Given the description of an element on the screen output the (x, y) to click on. 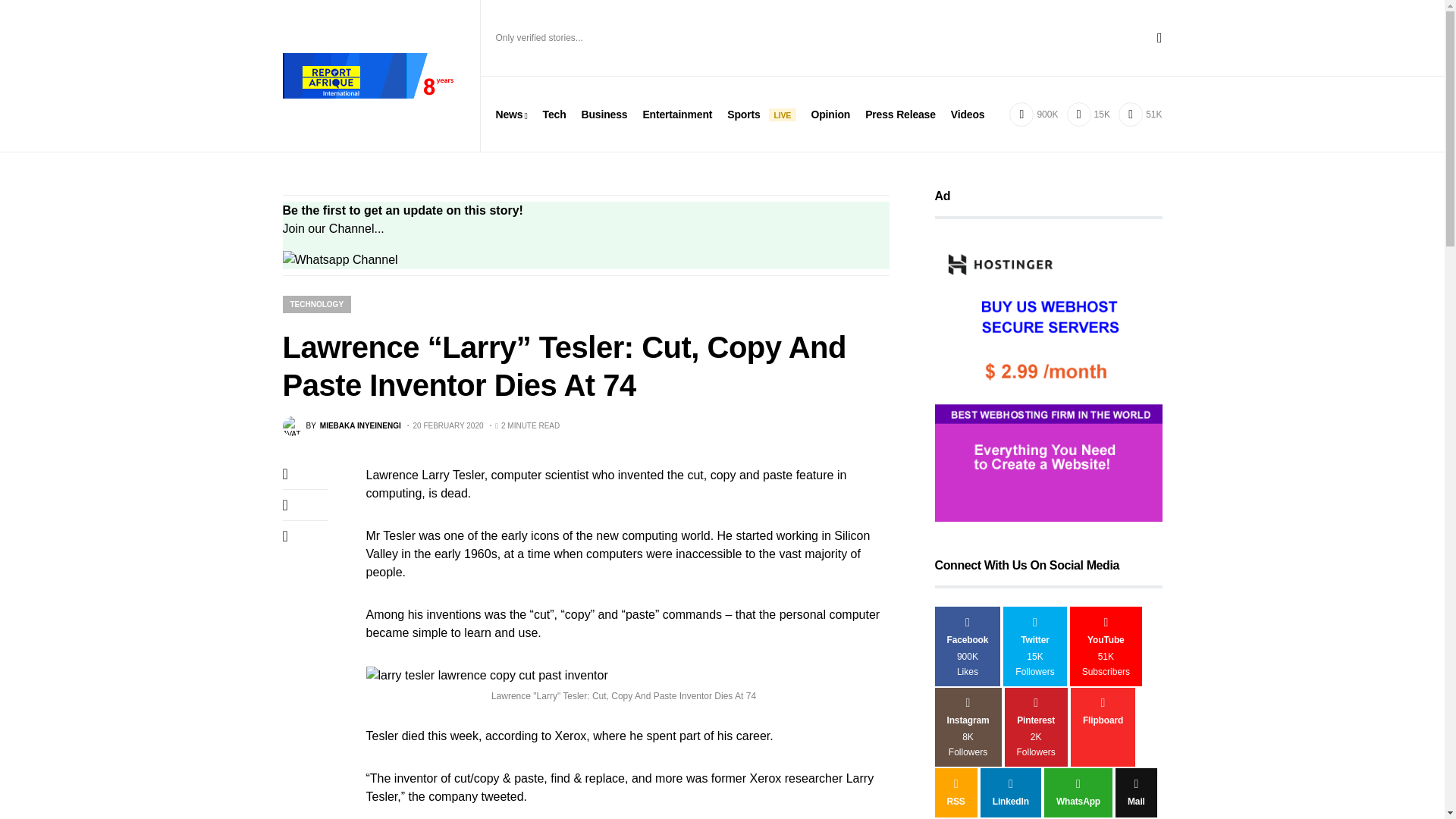
Press Release (900, 114)
900K (1033, 114)
Sports LIVE (760, 114)
51K (1139, 114)
15K (1088, 114)
View all posts by Miebaka Inyeinengi (341, 425)
Entertainment (676, 114)
